Given the description of an element on the screen output the (x, y) to click on. 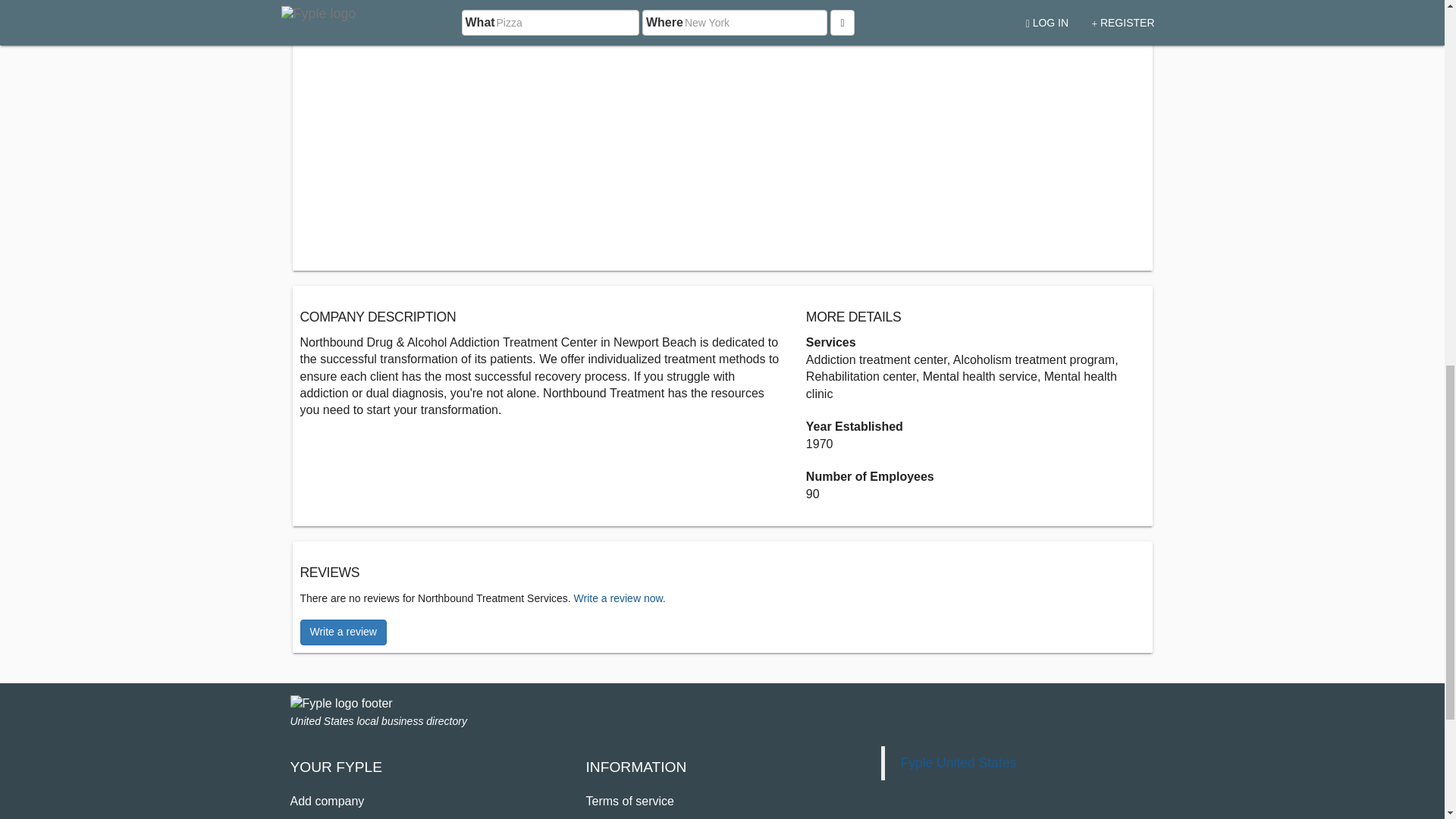
Terms of service (628, 800)
Fyple United States (957, 762)
Hot5Local (1047, 5)
Write a review (343, 632)
Register (311, 818)
Write a review now. (619, 598)
Location on map (469, 16)
Privacy Policy (623, 818)
Add company (326, 800)
